Given the description of an element on the screen output the (x, y) to click on. 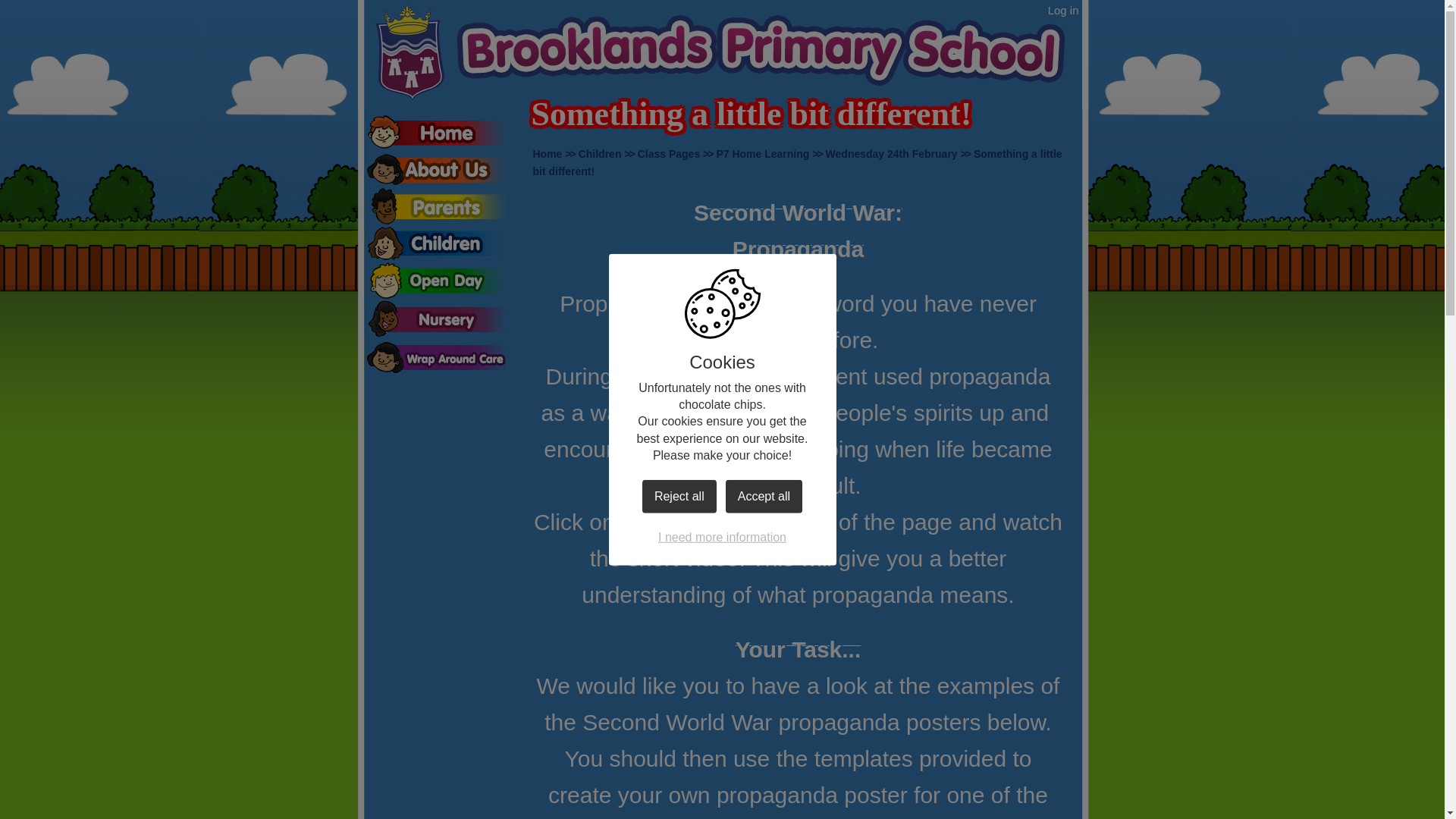
Home Page (721, 52)
Children (436, 243)
Home Page (721, 52)
Home (547, 153)
Log in (1063, 10)
Wednesday 24th February (891, 153)
Class Pages (668, 153)
Something a little bit different! (796, 162)
P7 Home Learning (762, 153)
Parents (436, 206)
Children (599, 153)
Home (436, 131)
About Us (436, 169)
